Given the description of an element on the screen output the (x, y) to click on. 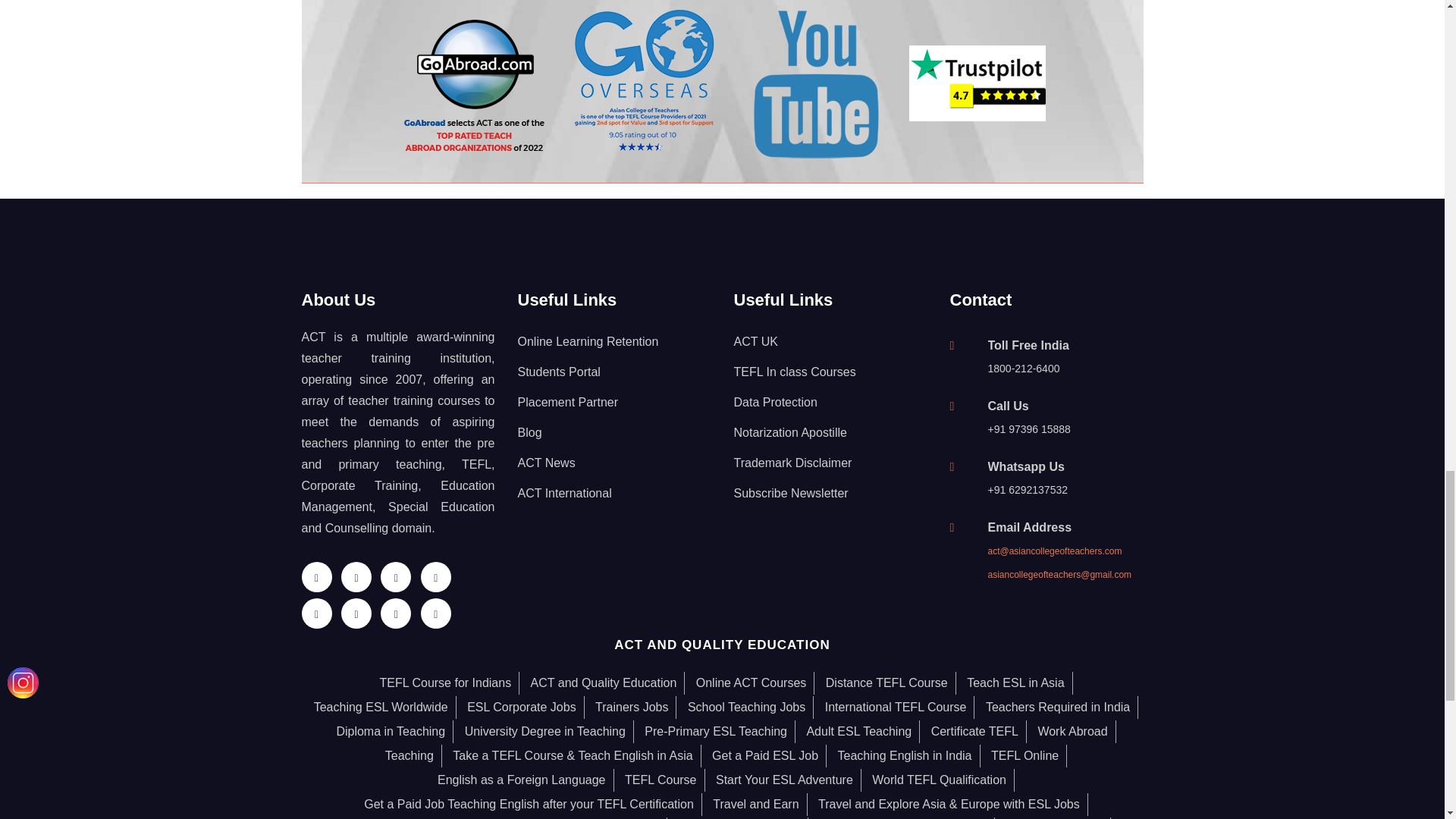
trust-pilot (976, 83)
GO OVERSEAS (644, 82)
YOU TUBE (815, 82)
GO ABROAD (474, 82)
